Given the description of an element on the screen output the (x, y) to click on. 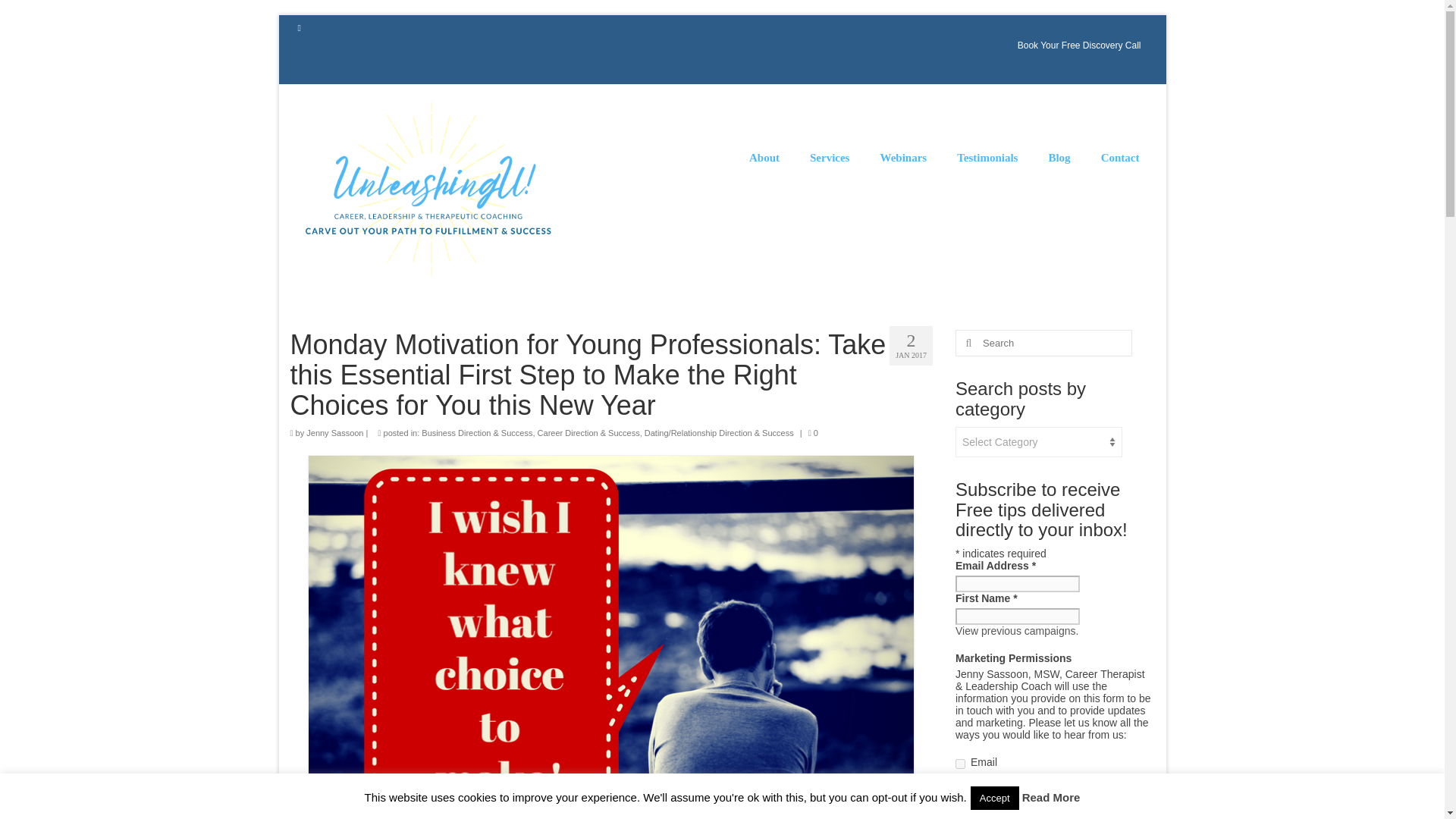
Services (829, 157)
Book Your Free Discovery Call (1079, 45)
Contact (1120, 157)
Jenny Sassoon (333, 432)
Y (960, 782)
Testimonials (987, 157)
Y (960, 801)
Y (960, 764)
About (763, 157)
Blog (1058, 157)
Webinars (903, 157)
